Given the description of an element on the screen output the (x, y) to click on. 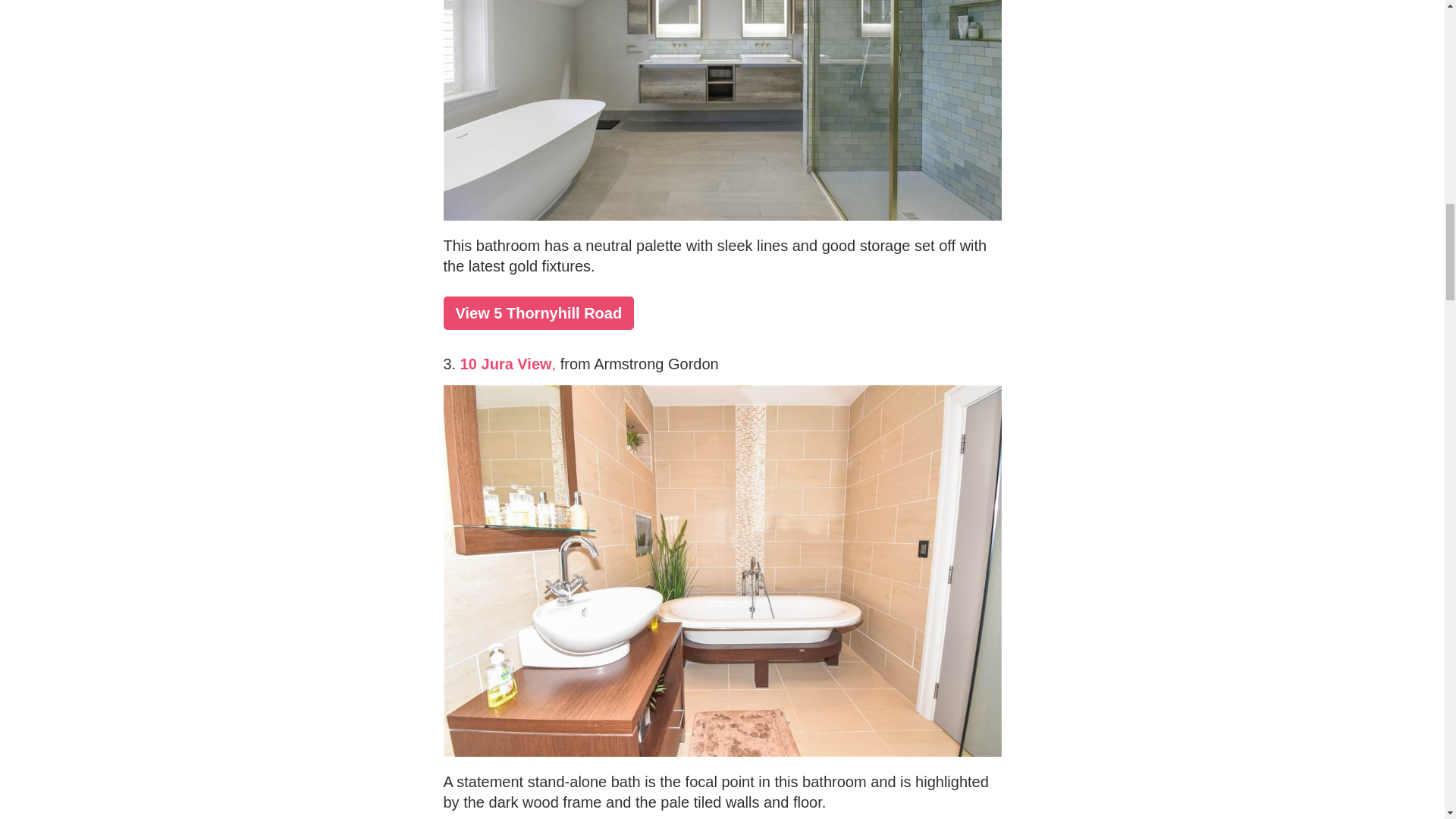
10 Jura View, (508, 363)
View 5 Thornyhill Road (537, 313)
